Given the description of an element on the screen output the (x, y) to click on. 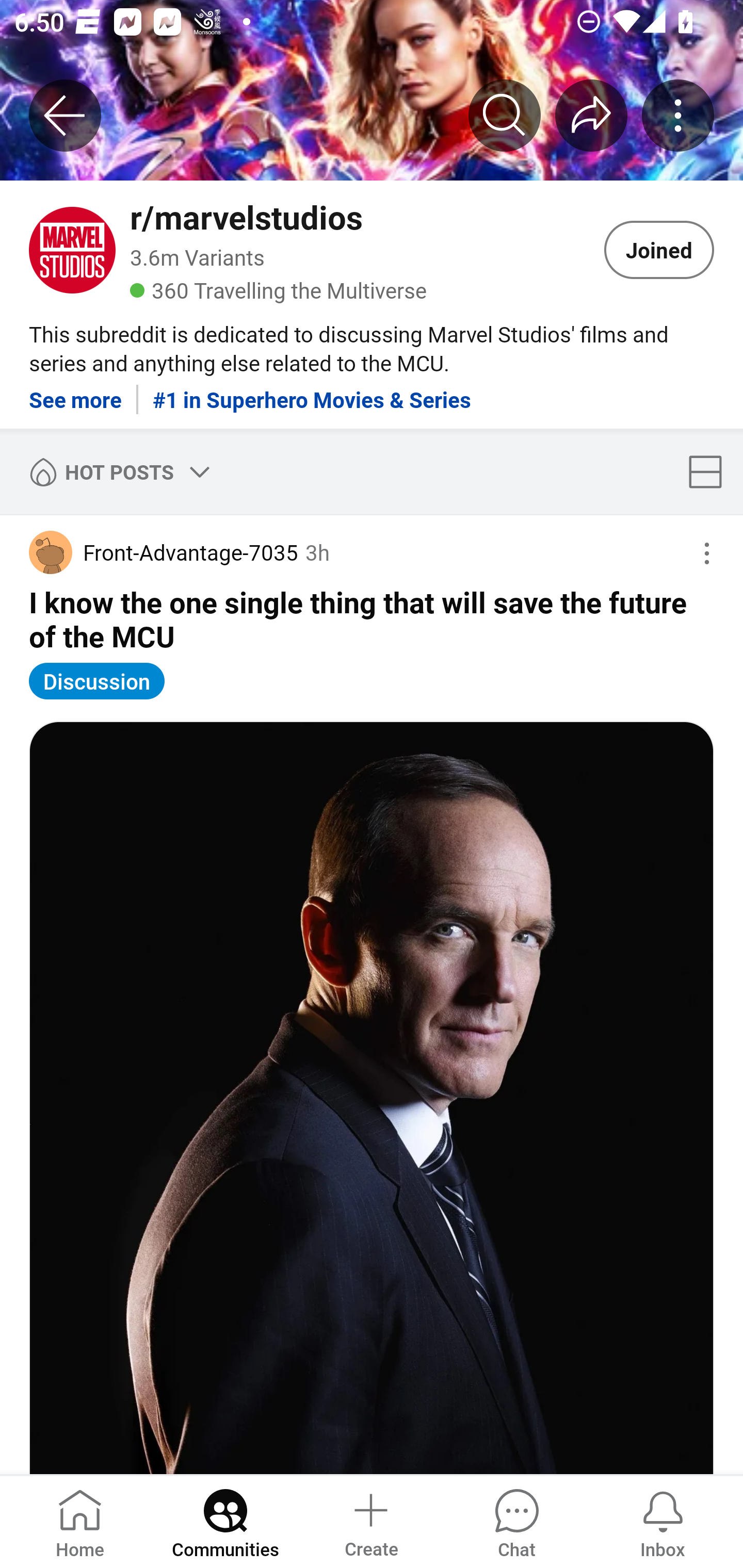
Back (64, 115)
Search r/﻿marvelstudios (504, 115)
Share r/﻿marvelstudios (591, 115)
More community actions (677, 115)
See more (74, 391)
#1 in Superhero Movies & Series (312, 391)
HOT POSTS Sort by Hot posts (115, 471)
Card display (711, 471)
Author Front-Advantage-7035 (162, 552)
Discussion (96, 681)
Image (371, 1097)
Home (80, 1520)
Communities (225, 1520)
Create a post Create (370, 1520)
Chat (516, 1520)
Inbox (662, 1520)
